Given the description of an element on the screen output the (x, y) to click on. 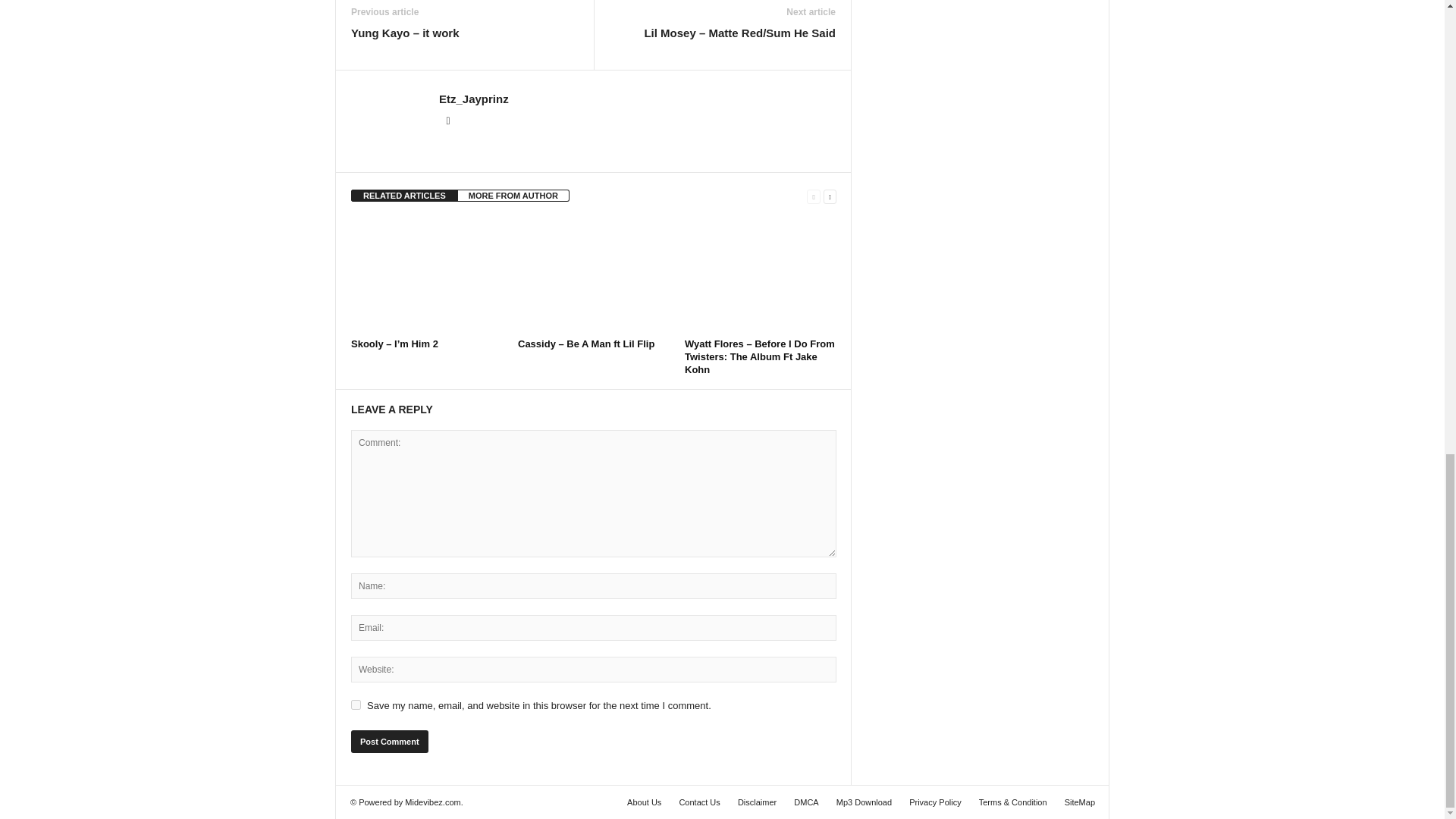
yes (355, 705)
Post Comment (389, 741)
